Given the description of an element on the screen output the (x, y) to click on. 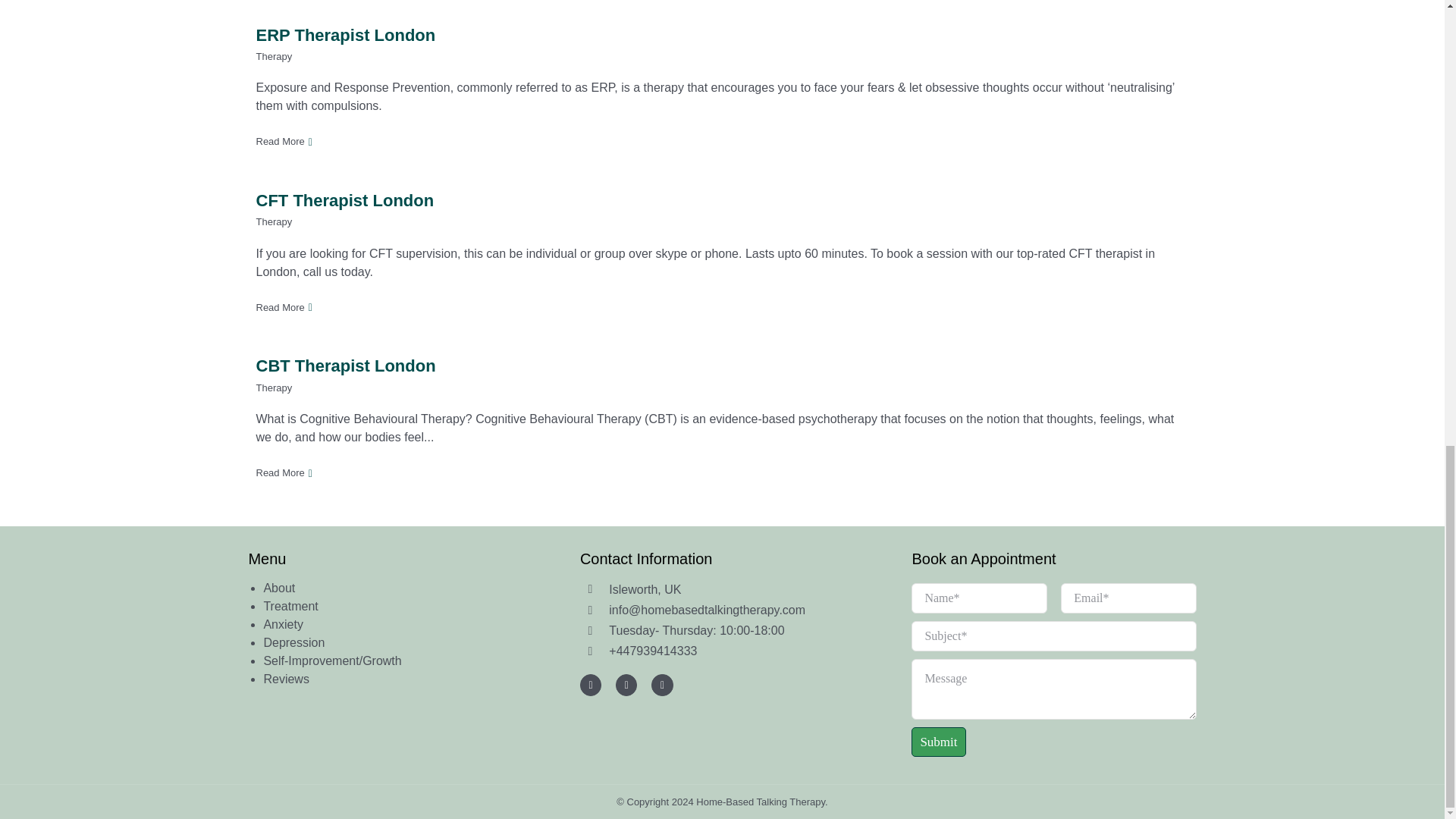
Submit (1053, 669)
